Given the description of an element on the screen output the (x, y) to click on. 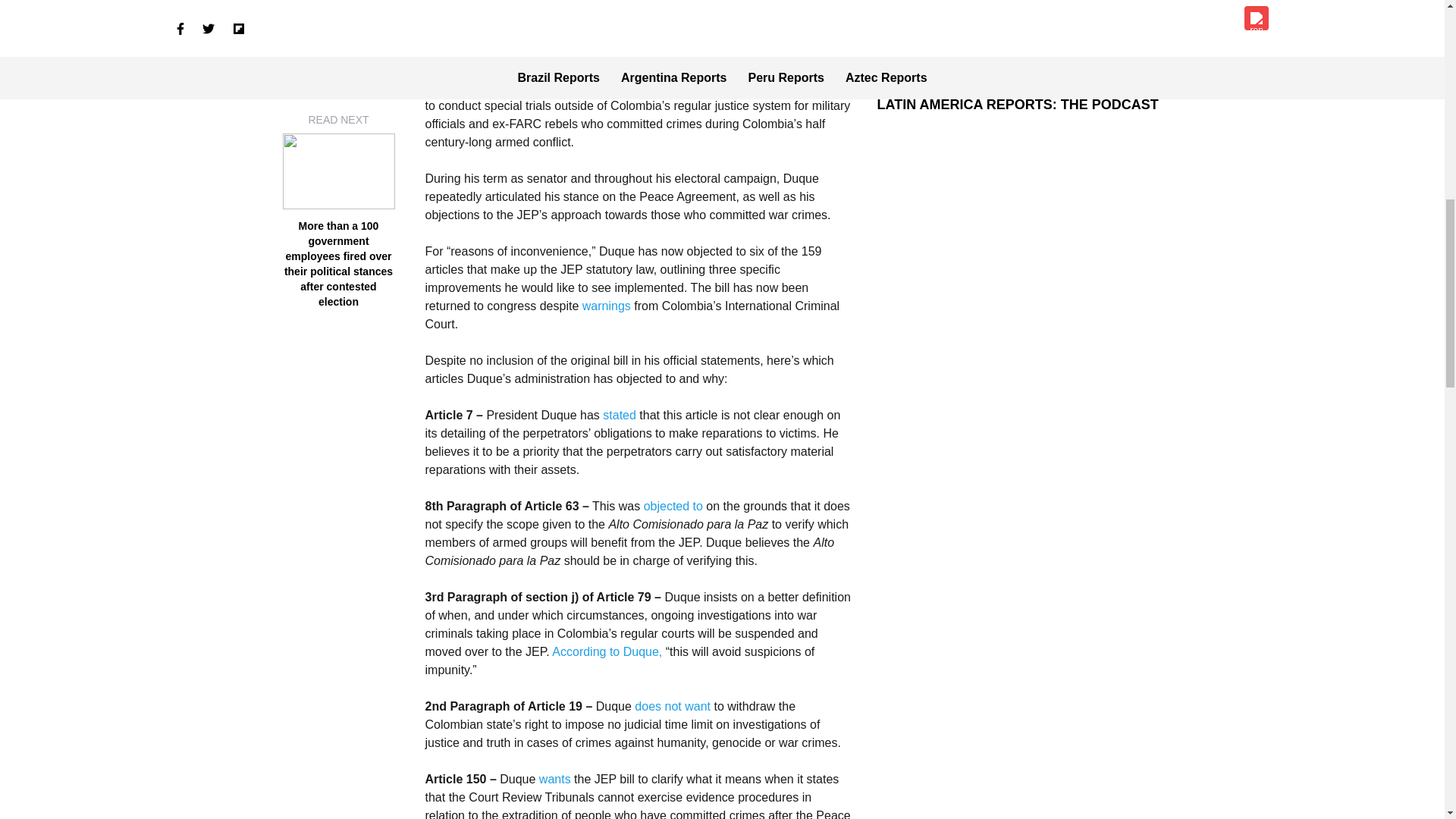
stated (620, 414)
11 March 2019 (628, 32)
According to Duque, (606, 651)
objected to (674, 505)
does not want (673, 706)
wants (555, 779)
warnings (604, 305)
